Given the description of an element on the screen output the (x, y) to click on. 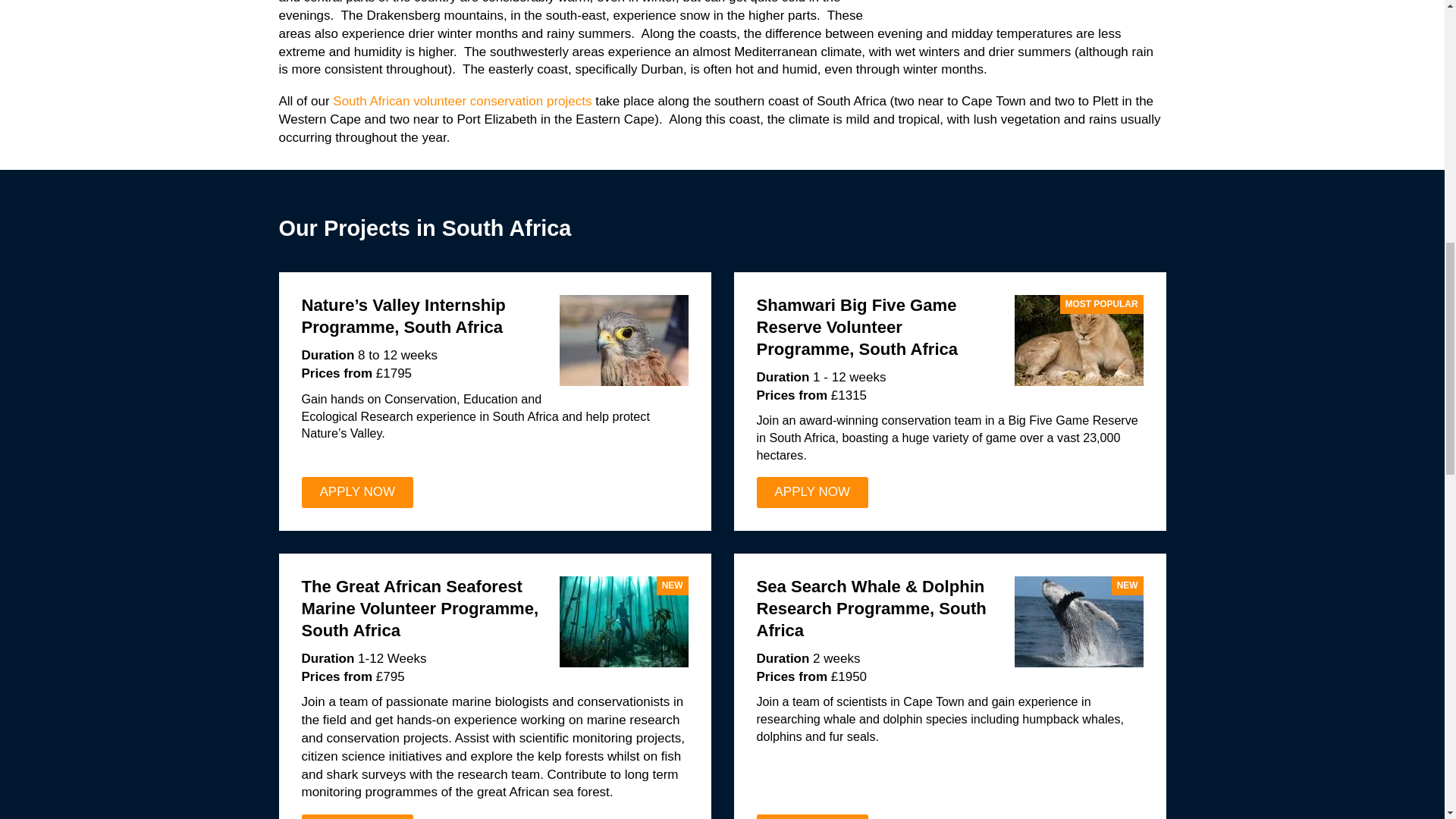
MOST POPULAR (1078, 339)
APPLY NOW (813, 816)
NEW (1078, 621)
APPLY NOW (357, 491)
APPLY NOW (813, 491)
South African volunteer conservation projects (462, 101)
APPLY NOW (357, 816)
NEW (623, 621)
